Given the description of an element on the screen output the (x, y) to click on. 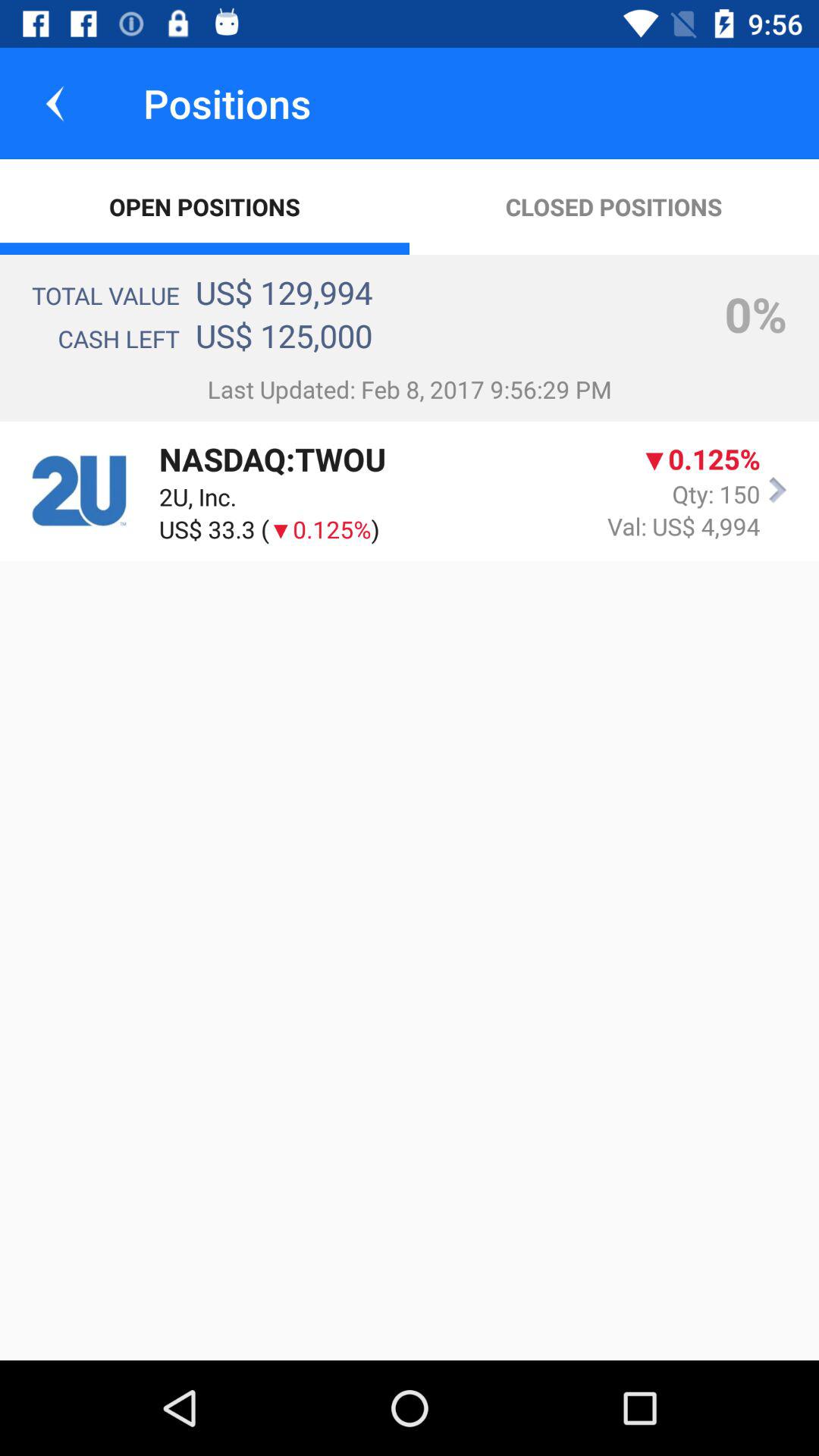
launch icon to the left of the positions item (55, 103)
